Given the description of an element on the screen output the (x, y) to click on. 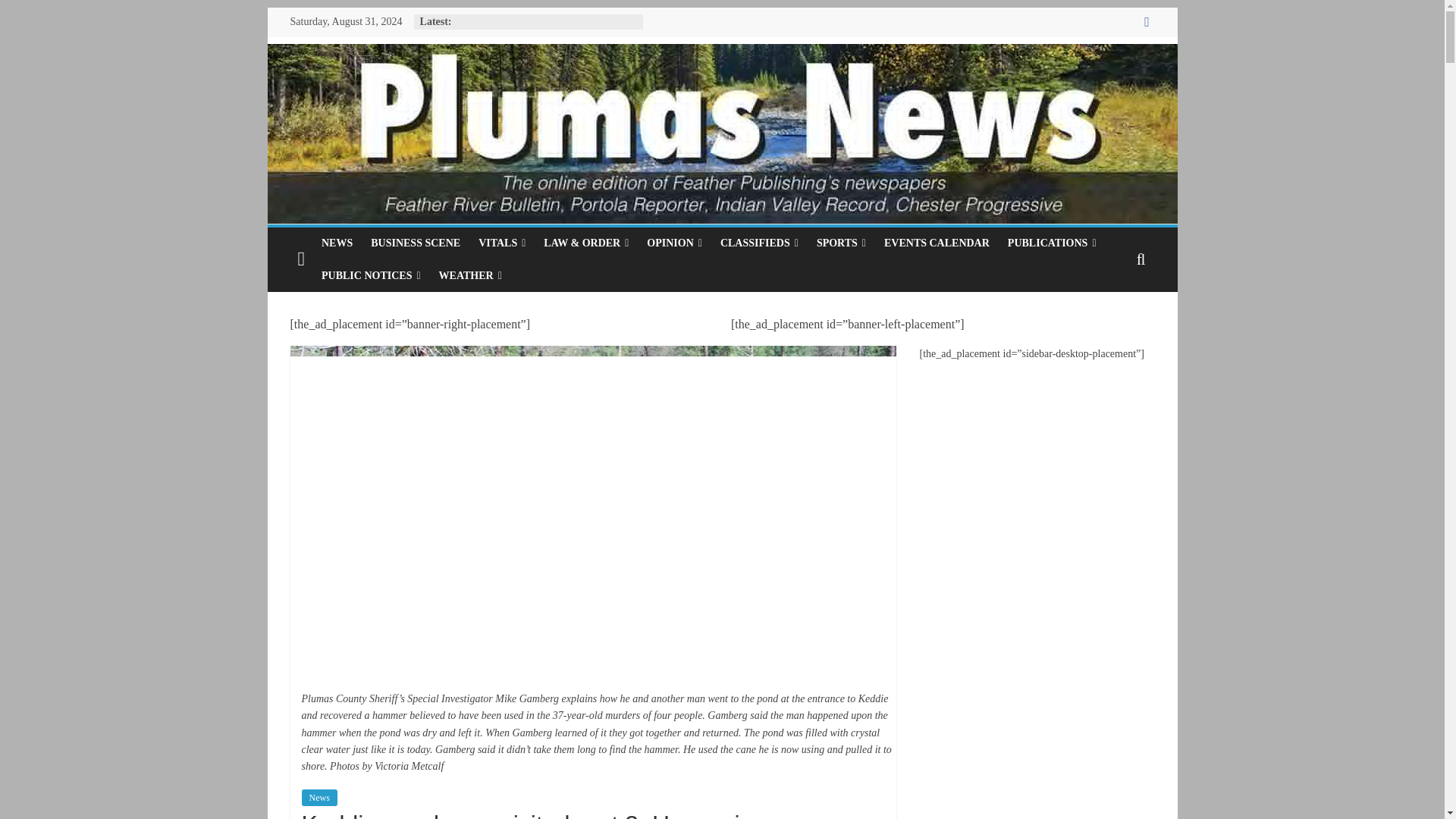
BUSINESS SCENE (414, 243)
CLASSIFIEDS (759, 243)
NEWS (337, 243)
VITALS (501, 243)
OPINION (674, 243)
SPORTS (841, 243)
PUBLICATIONS (1051, 243)
EVENTS CALENDAR (936, 243)
